Given the description of an element on the screen output the (x, y) to click on. 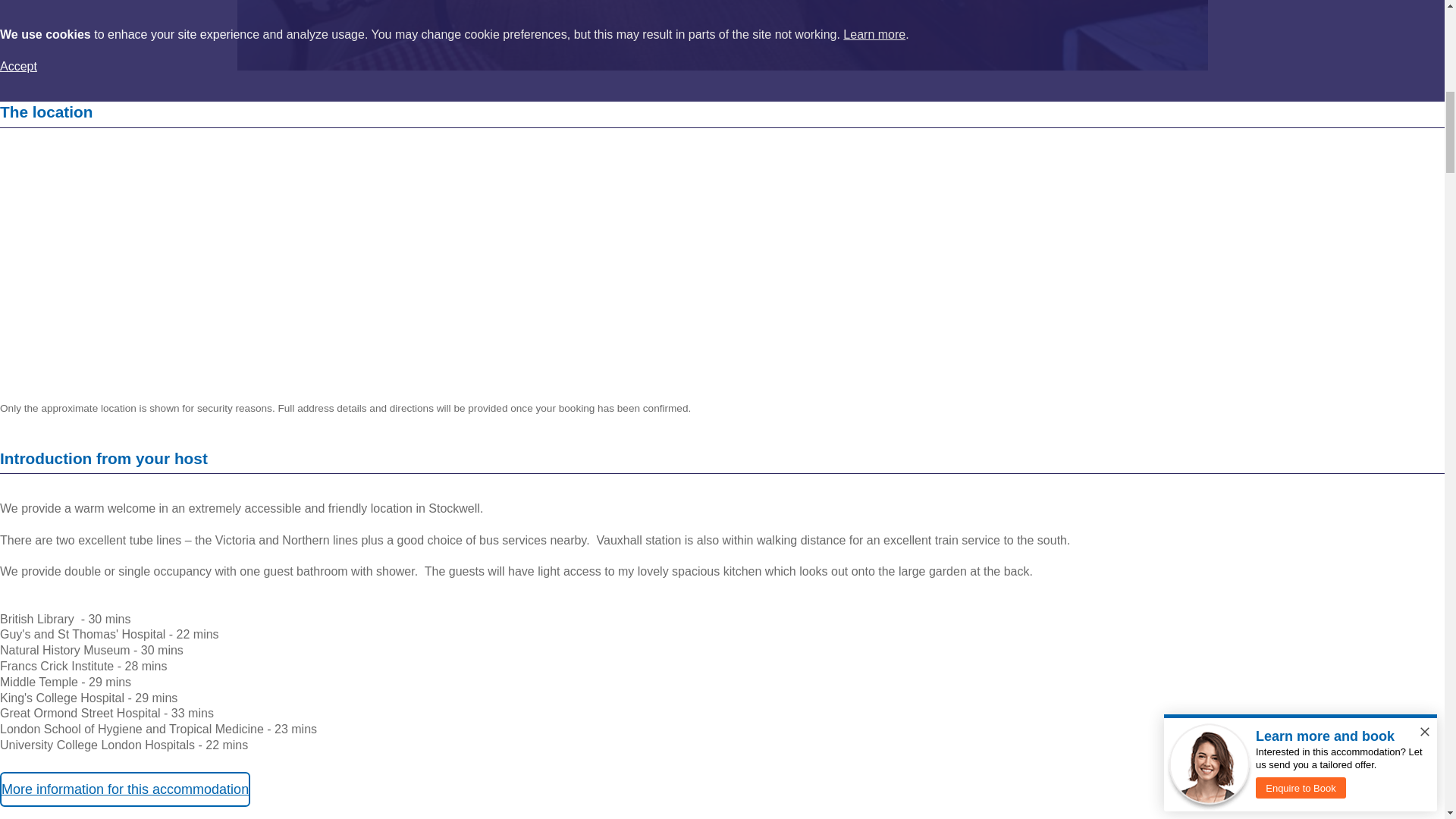
More information for this accommodation (125, 789)
